Given the description of an element on the screen output the (x, y) to click on. 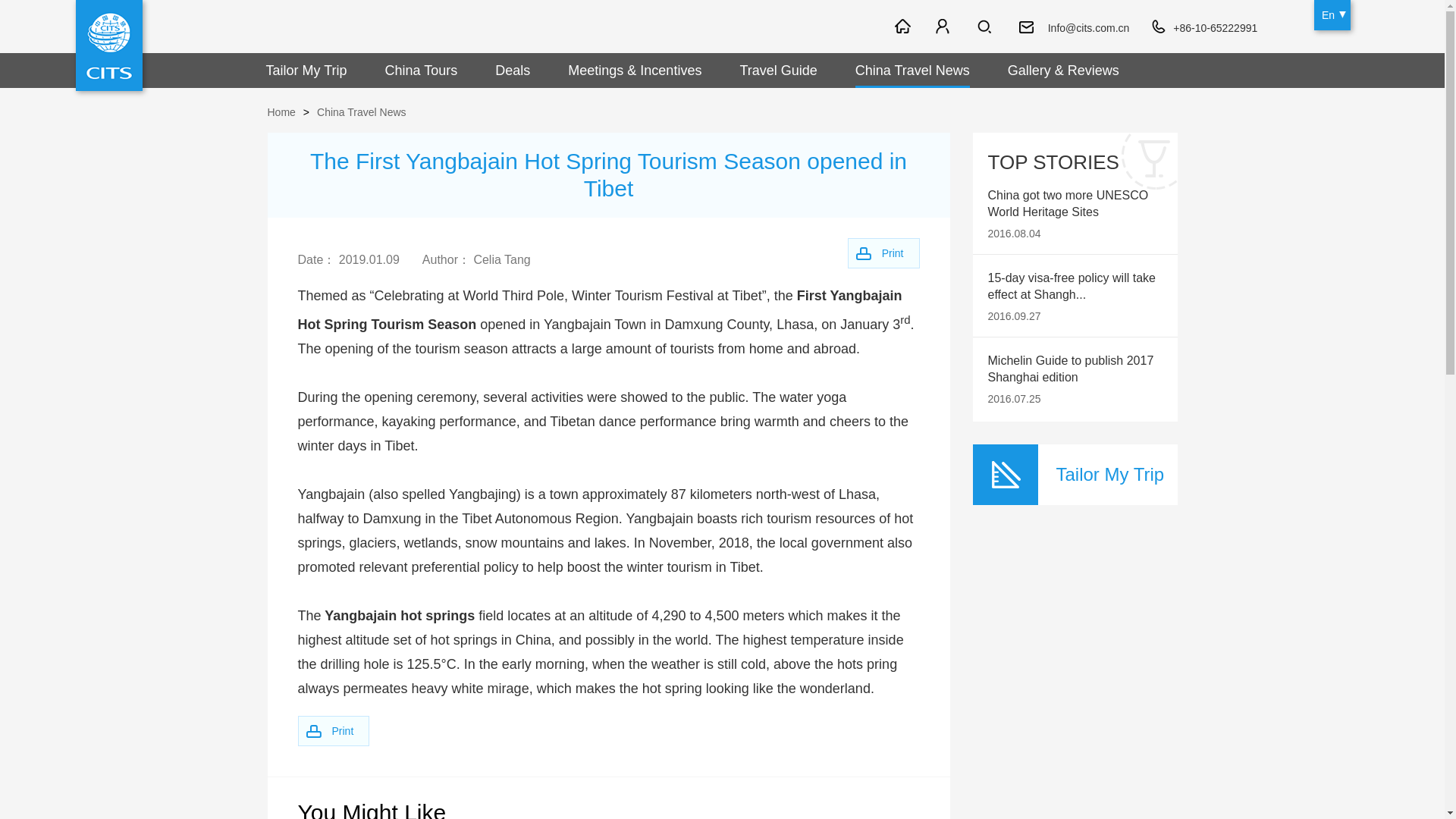
Tailor My Trip (306, 70)
China Tours (421, 70)
Beijing Tour (876, 25)
En (1332, 15)
